Given the description of an element on the screen output the (x, y) to click on. 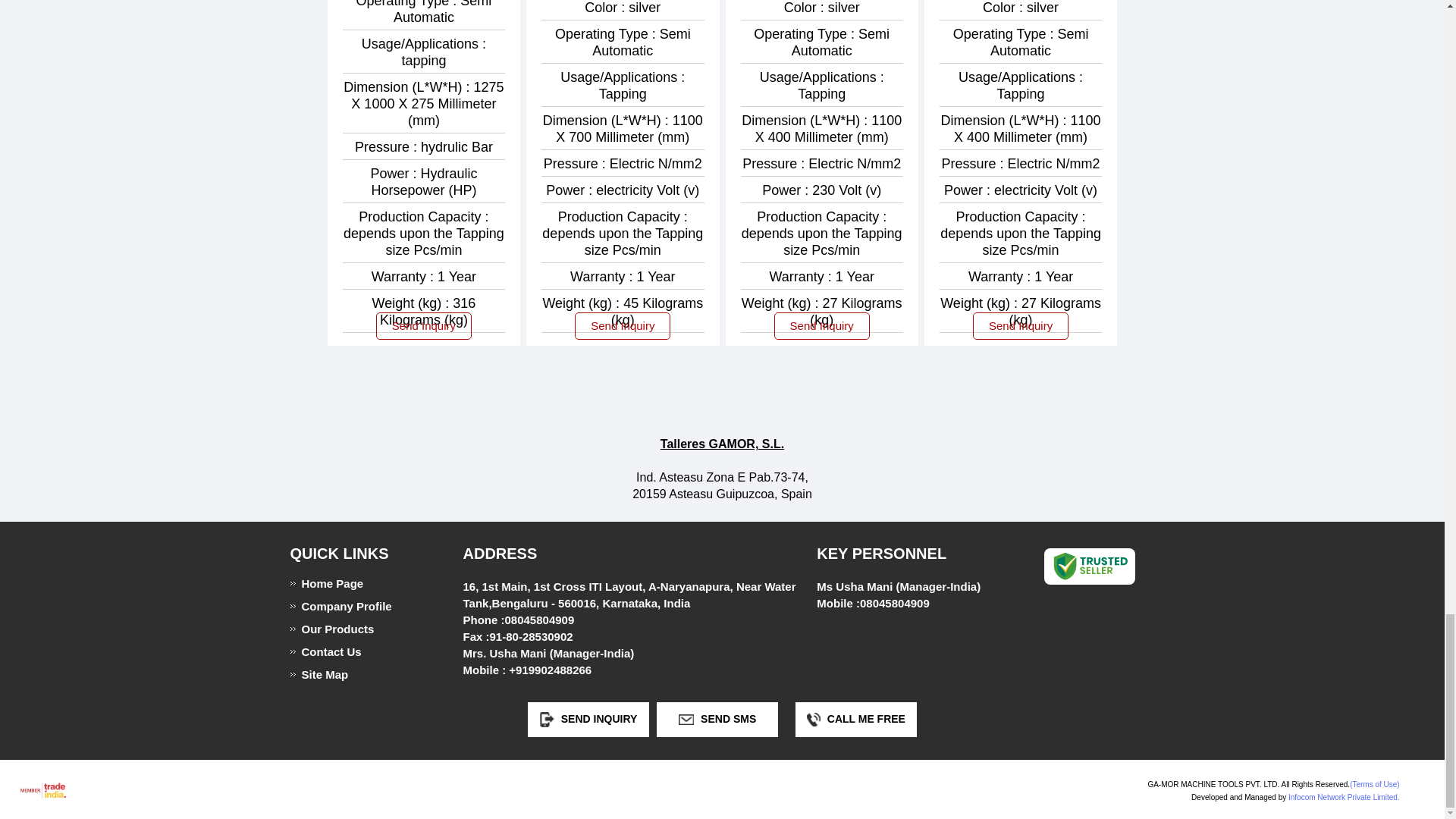
Send SMS (686, 719)
Call Me Free (813, 719)
Send Inquiry (547, 719)
